Given the description of an element on the screen output the (x, y) to click on. 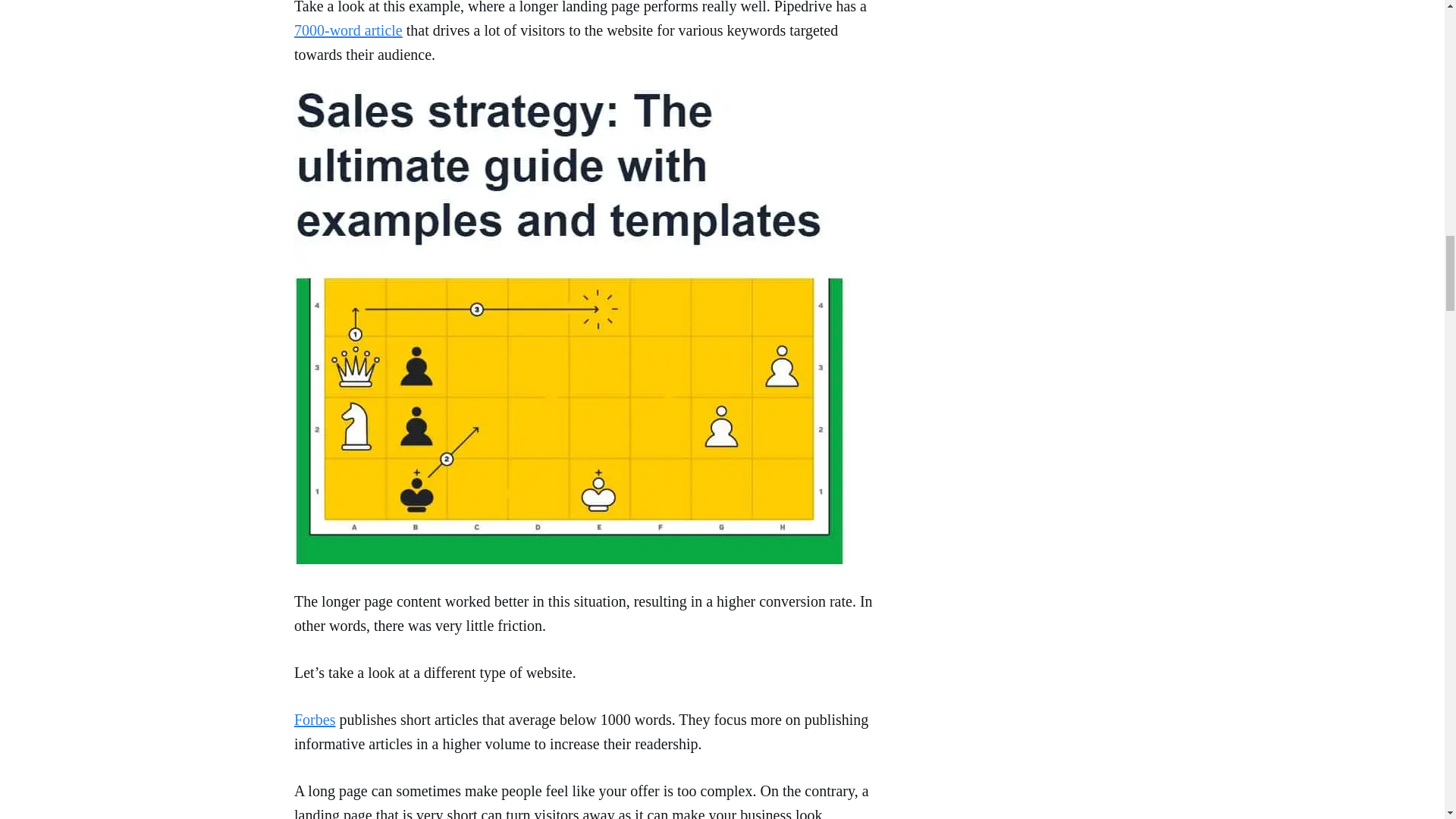
7000-word article (348, 30)
Forbes (314, 719)
